Given the description of an element on the screen output the (x, y) to click on. 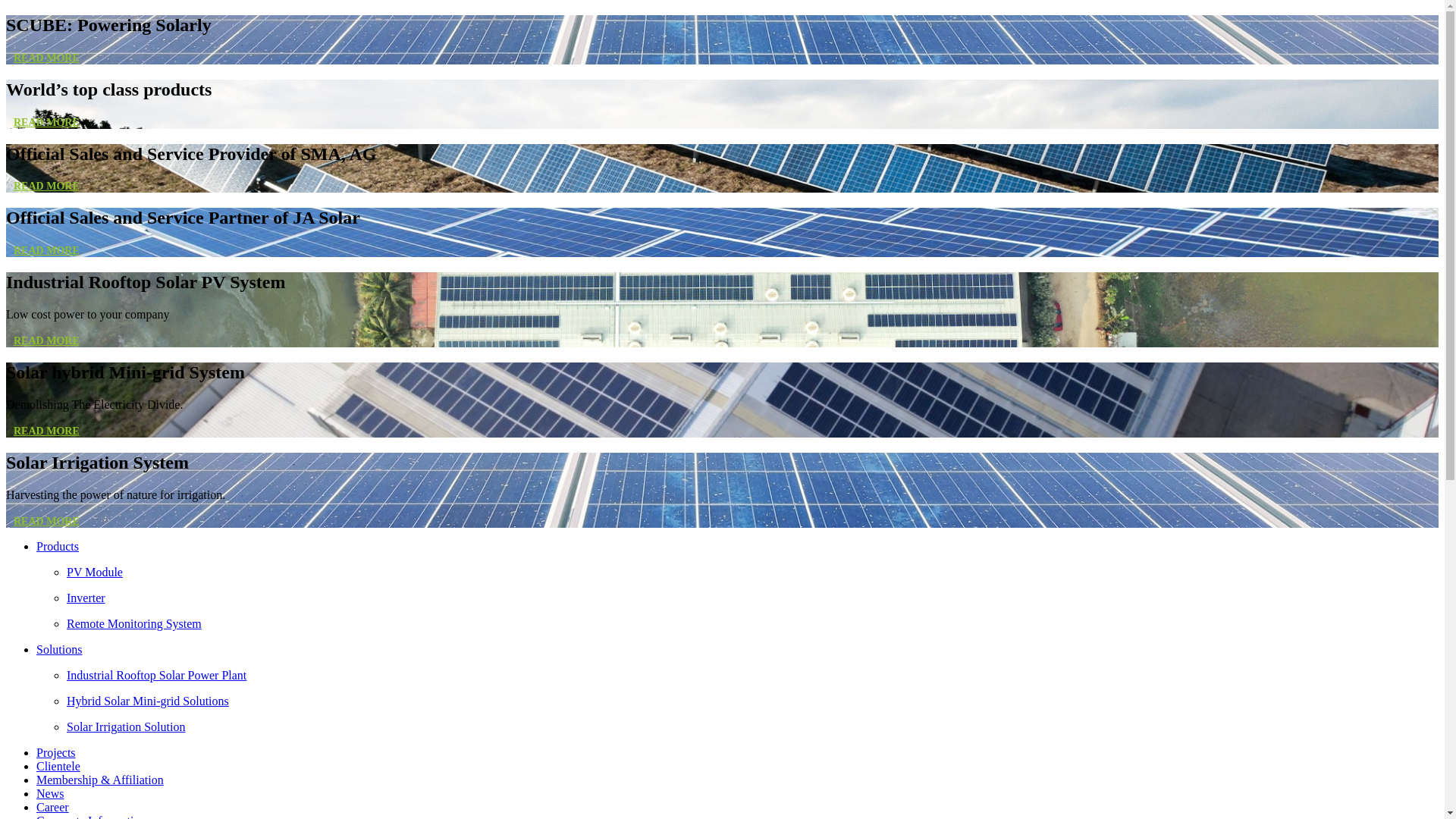
Industrial Rooftop Solar Power Plant Element type: text (752, 675)
Products Element type: text (57, 545)
Solar Irrigation Solution Element type: text (752, 727)
Inverter Element type: text (752, 598)
News Element type: text (49, 793)
PV Module Element type: text (752, 572)
READ MORE Element type: text (46, 340)
READ MORE Element type: text (46, 430)
READ MORE Element type: text (46, 121)
Remote Monitoring System Element type: text (752, 623)
Clientele Element type: text (58, 765)
Membership & Affiliation Element type: text (99, 779)
READ MORE Element type: text (46, 520)
Solutions Element type: text (58, 649)
READ MORE Element type: text (46, 250)
READ MORE Element type: text (46, 57)
Hybrid Solar Mini-grid Solutions Element type: text (752, 701)
READ MORE Element type: text (46, 185)
Projects Element type: text (55, 752)
Career Element type: text (52, 806)
